Given the description of an element on the screen output the (x, y) to click on. 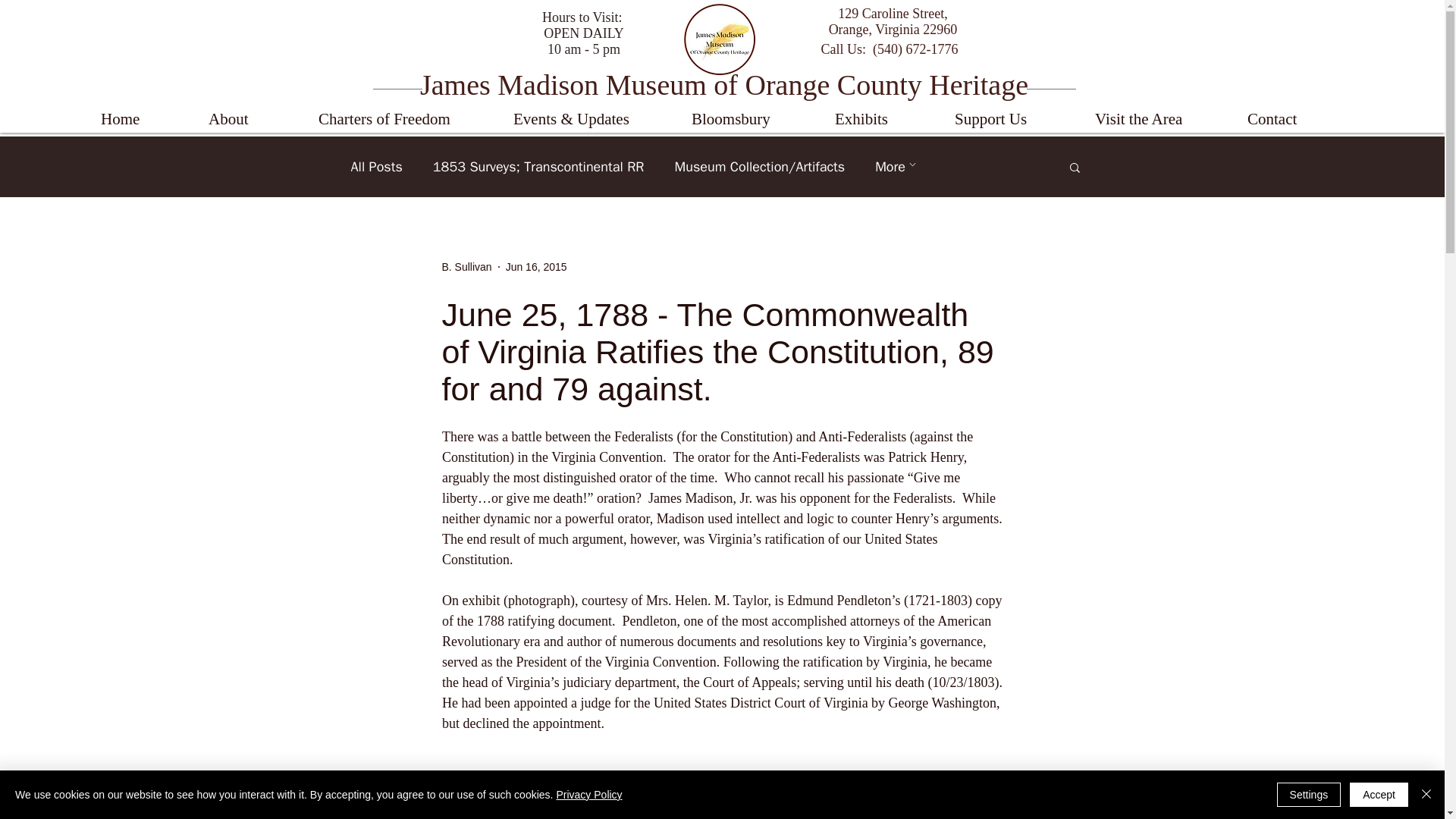
Contact (1295, 119)
Jun 16, 2015 (536, 266)
jamesmadisonlogo.jpg (719, 38)
All Posts (375, 167)
Home (142, 119)
James Madison Museum of Orange County Heritage (723, 84)
B. Sullivan (466, 267)
Bloomsbury (751, 119)
B. Sullivan (466, 267)
Accessibility Menu (26, 792)
1853 Surveys; Transcontinental RR (538, 167)
